Given the description of an element on the screen output the (x, y) to click on. 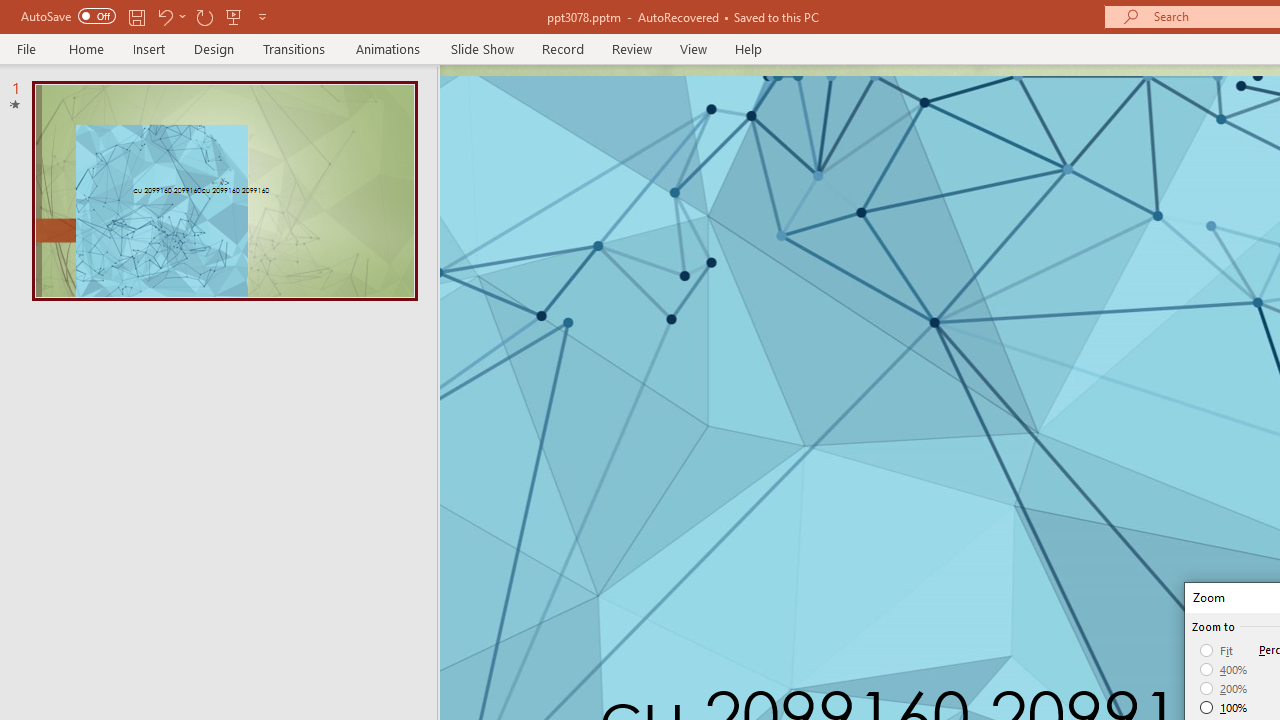
100% (1224, 707)
200% (1224, 688)
